Given the description of an element on the screen output the (x, y) to click on. 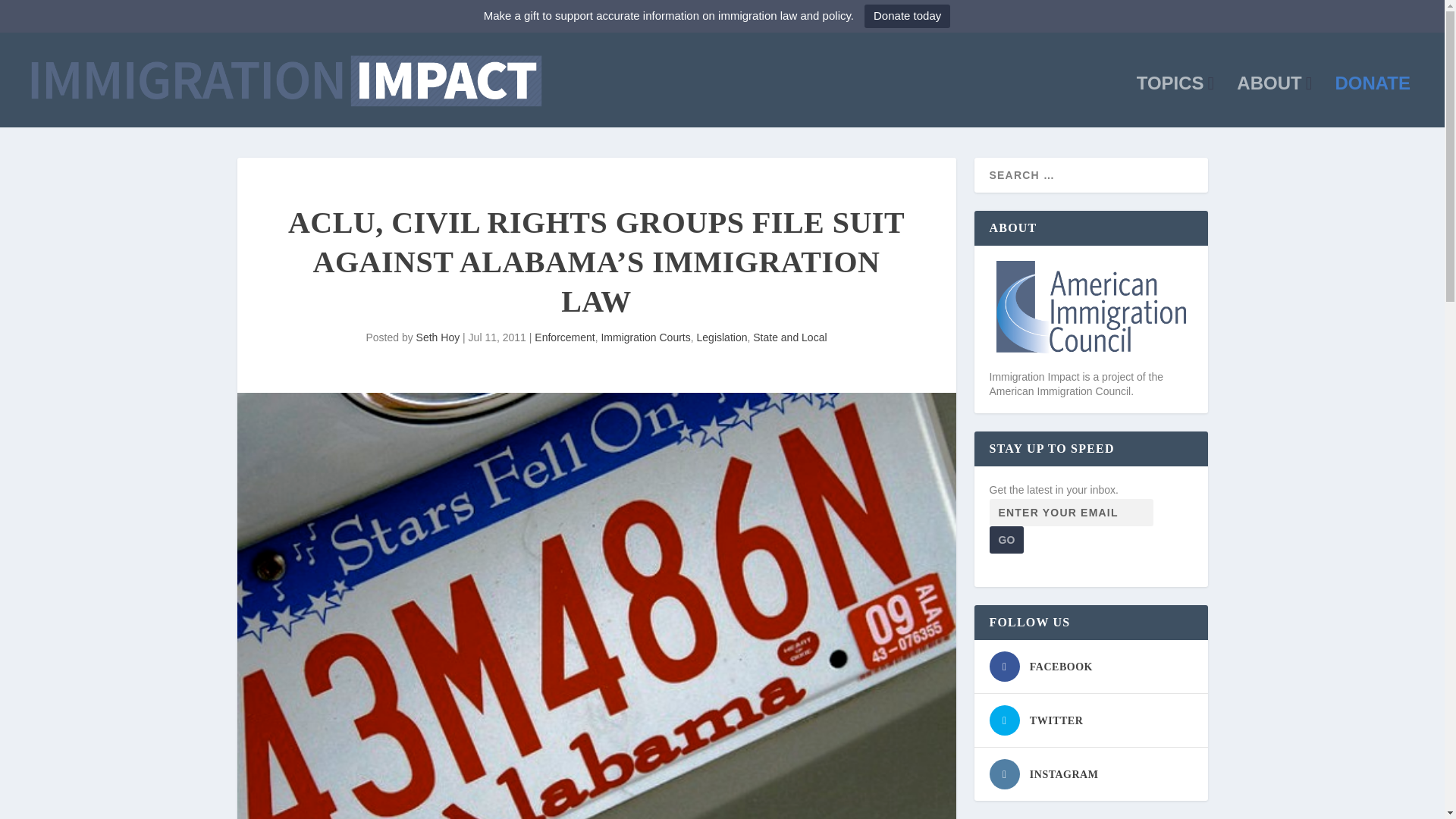
Donate today (907, 15)
DONATE (1372, 101)
GO (1005, 539)
TOPICS (1175, 101)
Legislation (722, 337)
ABOUT (1273, 101)
State and Local (789, 337)
Seth Hoy (438, 337)
Immigration Courts (644, 337)
Enforcement (564, 337)
